Given the description of an element on the screen output the (x, y) to click on. 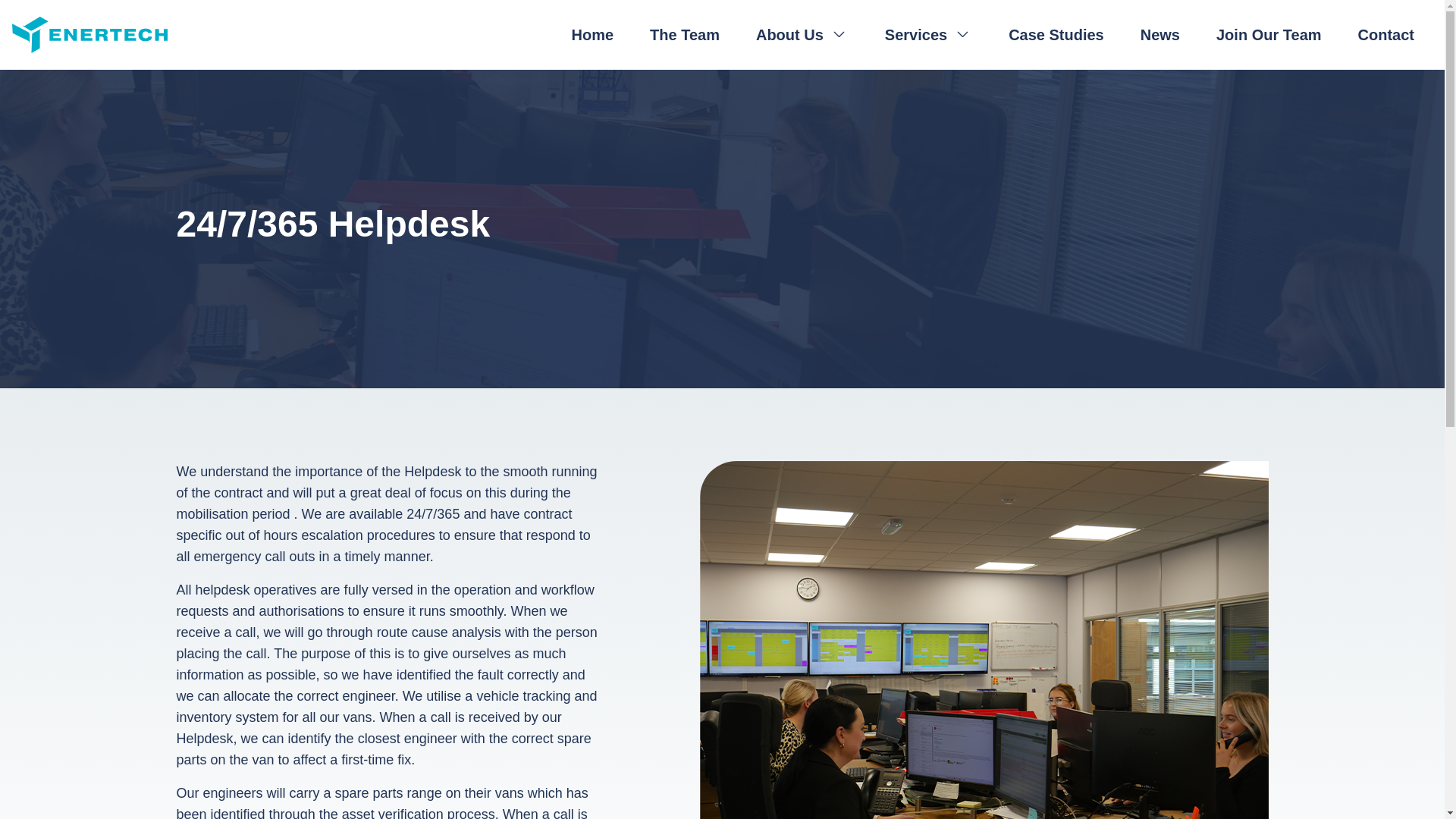
The Team (684, 34)
Join Our Team (1268, 34)
Case Studies (1056, 34)
Services (928, 34)
News (1160, 34)
Contact (1385, 34)
About Us (802, 34)
Home (592, 34)
